Given the description of an element on the screen output the (x, y) to click on. 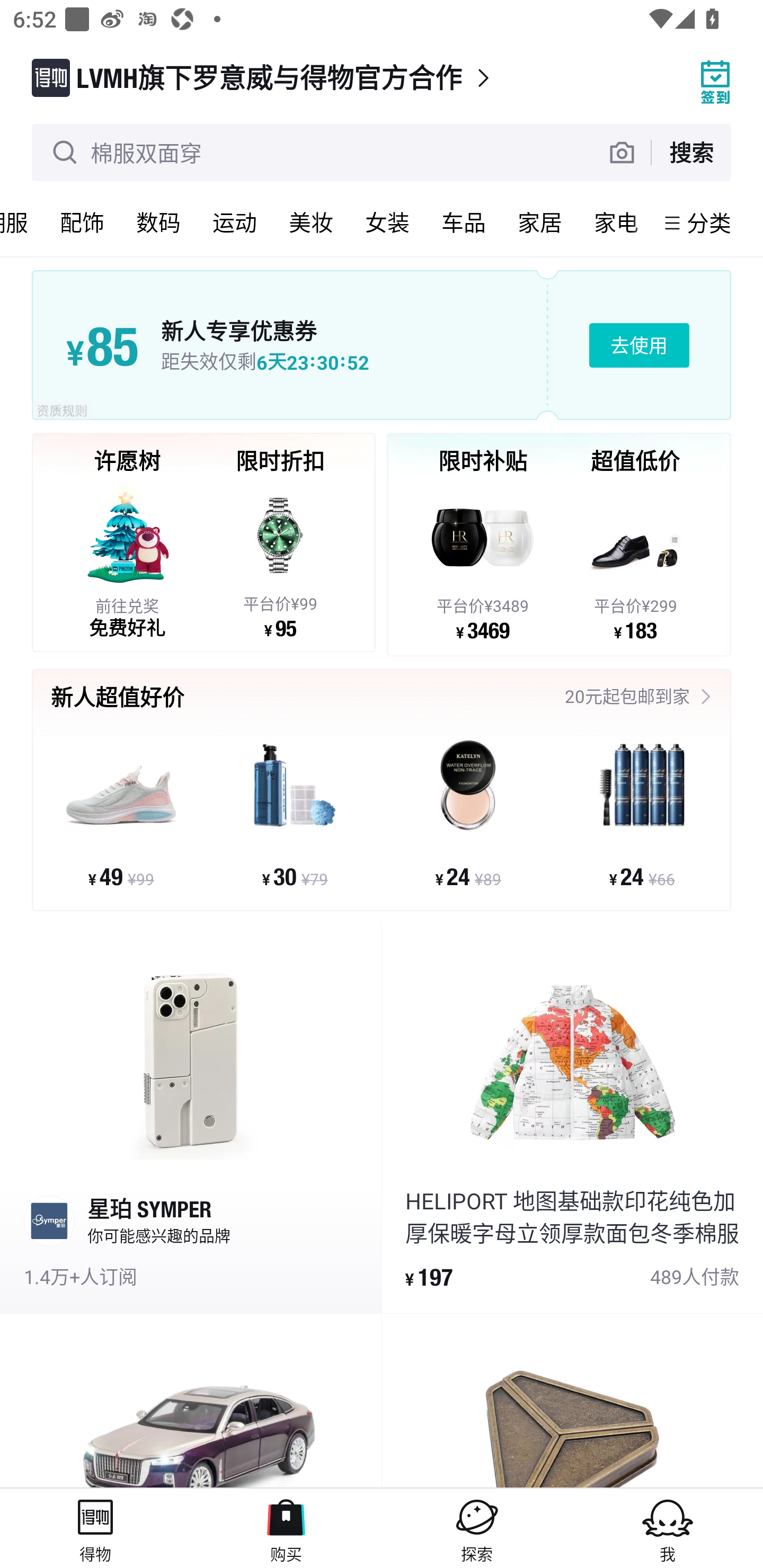
棉服双面穿 搜索 (381, 152)
搜索 (690, 152)
配饰 (82, 222)
数码 (158, 222)
运动 (234, 222)
美妆 (311, 222)
女装 (387, 222)
车品 (463, 222)
家居 (540, 222)
家电 (616, 222)
分类 (708, 222)
平台价¥99 ¥ 95 (279, 559)
前往兑奖 免费好礼 (127, 559)
平台价¥3489 ¥ 3469 (482, 560)
平台价¥299 ¥ 183 (635, 560)
¥ 49 ¥99 (121, 813)
¥ 30 ¥79 (294, 813)
¥ 24 ¥89 (468, 813)
¥ 24 ¥66 (641, 813)
星珀 SYMPER 你可能感兴趣的品牌 1.4万+人订阅 (190, 1118)
product_item (190, 1400)
得物 (95, 1528)
购买 (285, 1528)
探索 (476, 1528)
我 (667, 1528)
